Given the description of an element on the screen output the (x, y) to click on. 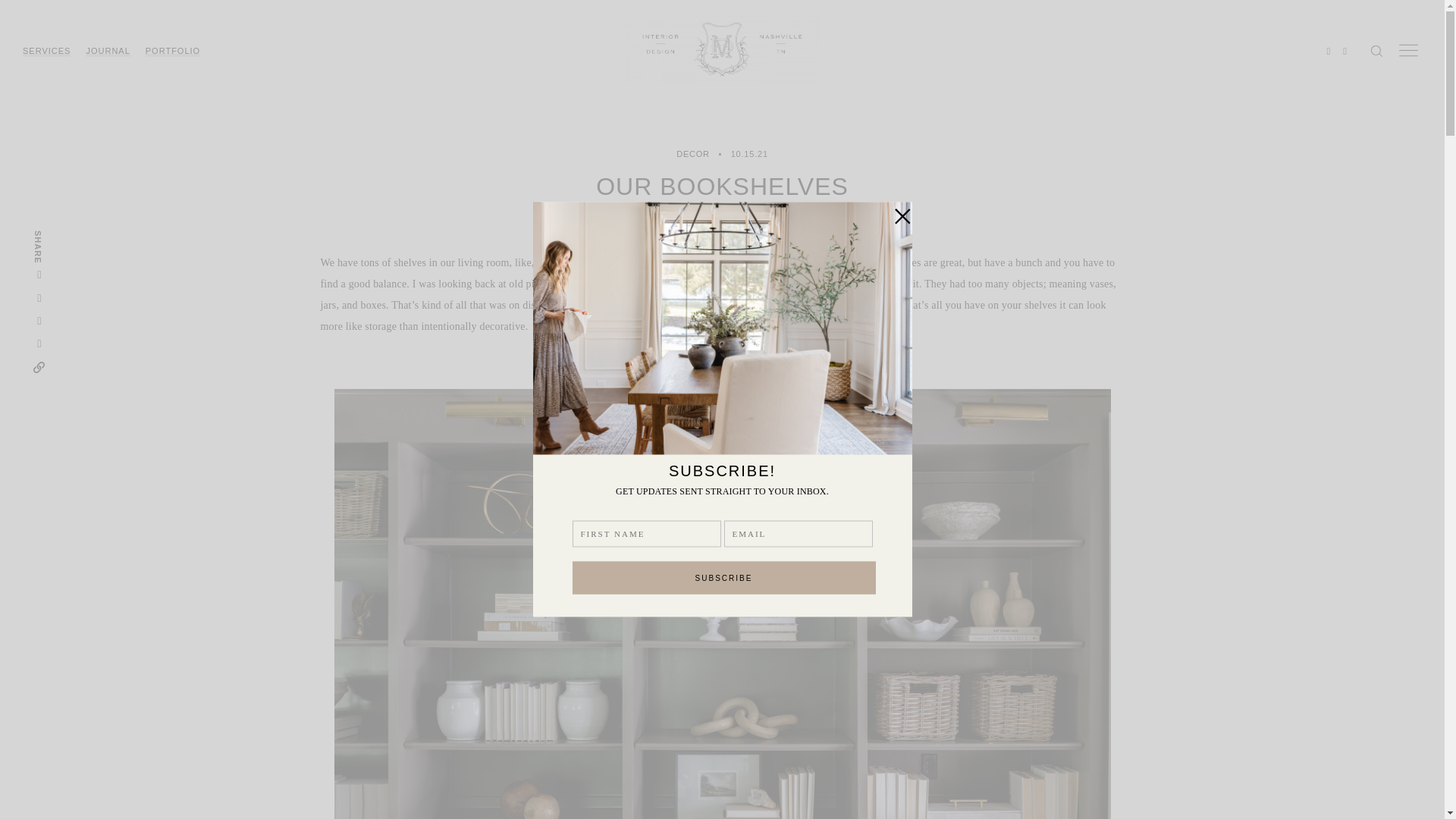
Subscribe (723, 577)
JOURNAL (107, 51)
DECOR (693, 154)
PORTFOLIO (172, 51)
SERVICES (46, 51)
